Given the description of an element on the screen output the (x, y) to click on. 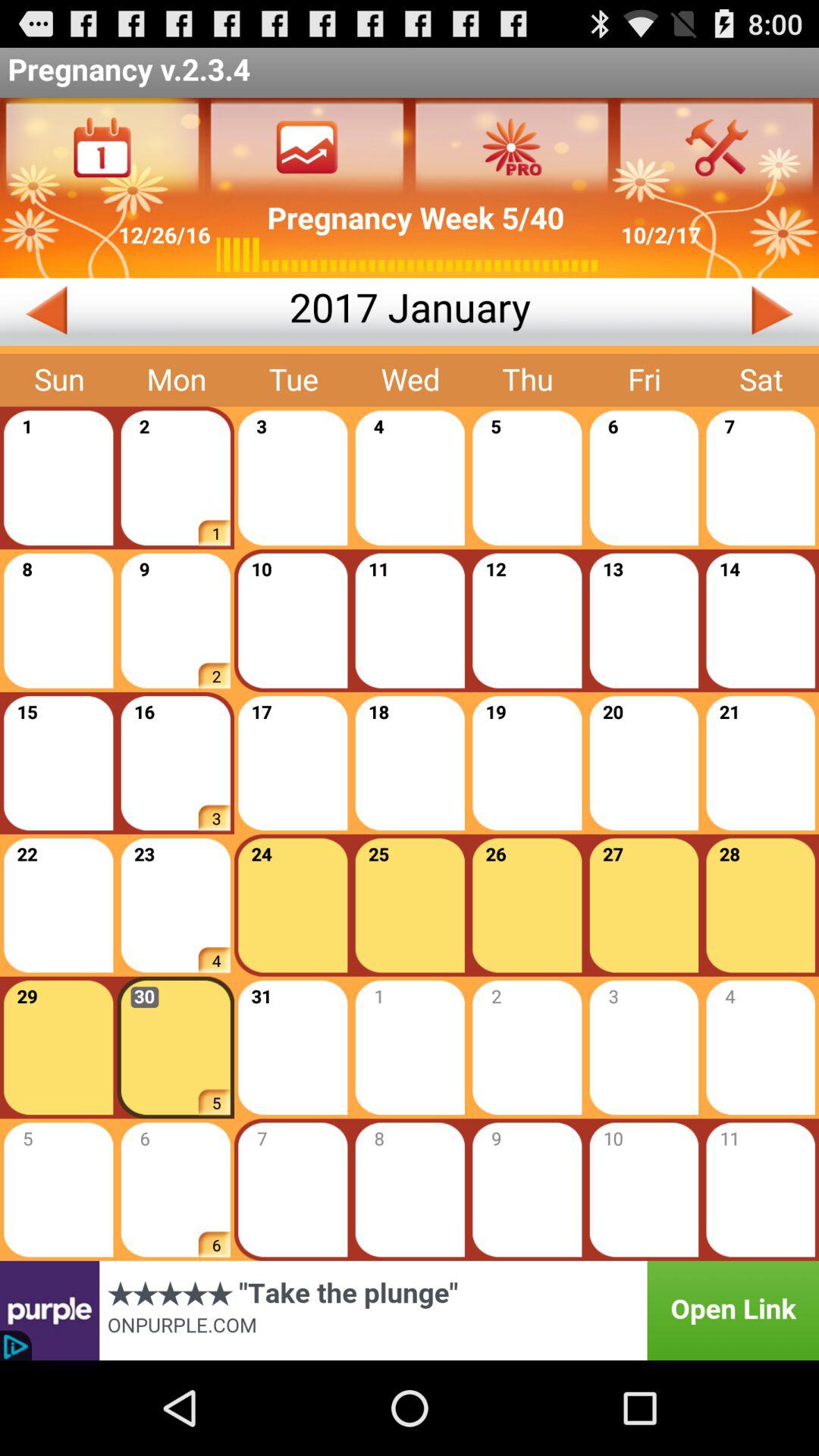
go back one page (144, 311)
